Given the description of an element on the screen output the (x, y) to click on. 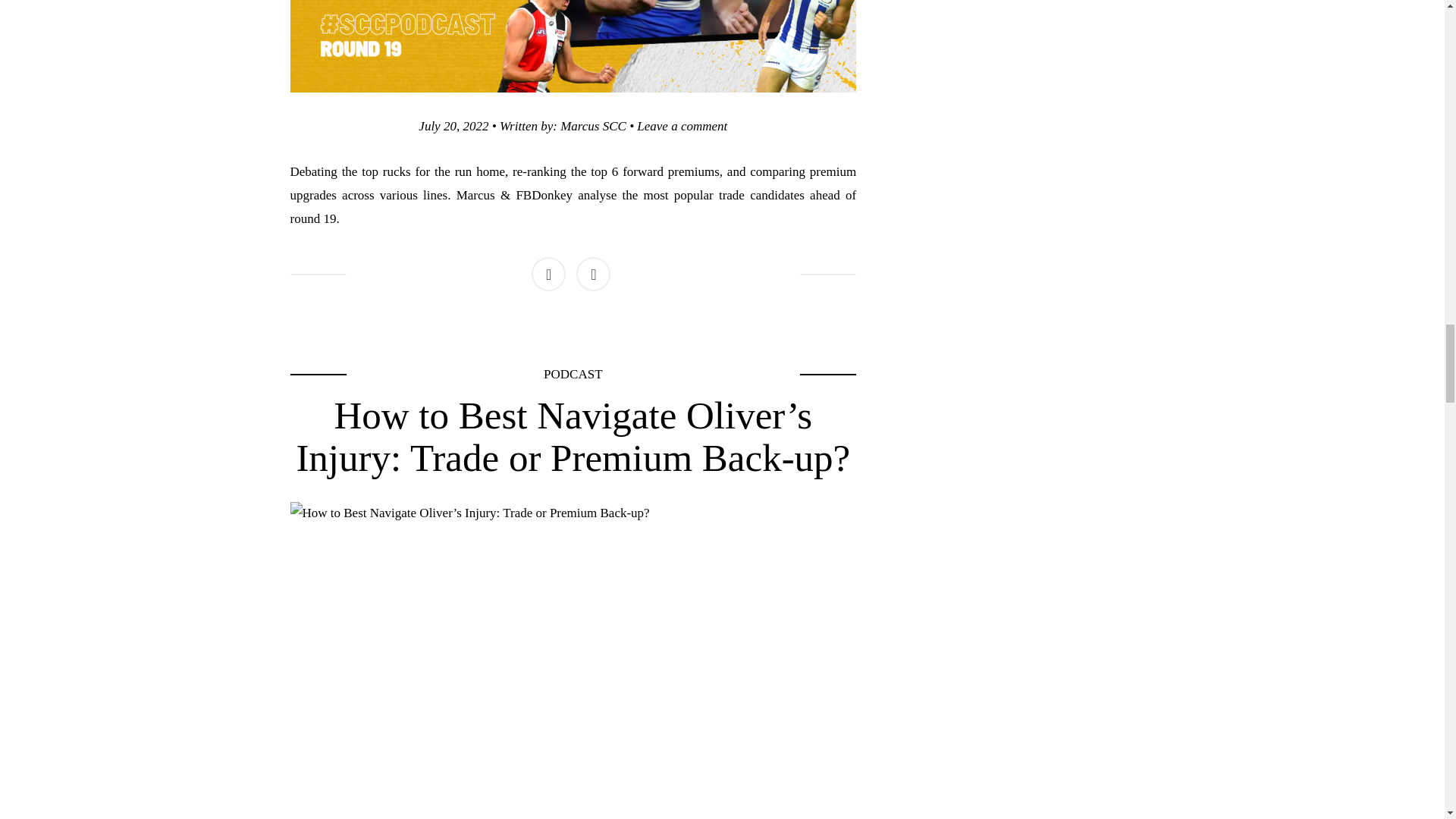
Written by: Marcus SCC (562, 125)
Leave a comment (681, 125)
